Given the description of an element on the screen output the (x, y) to click on. 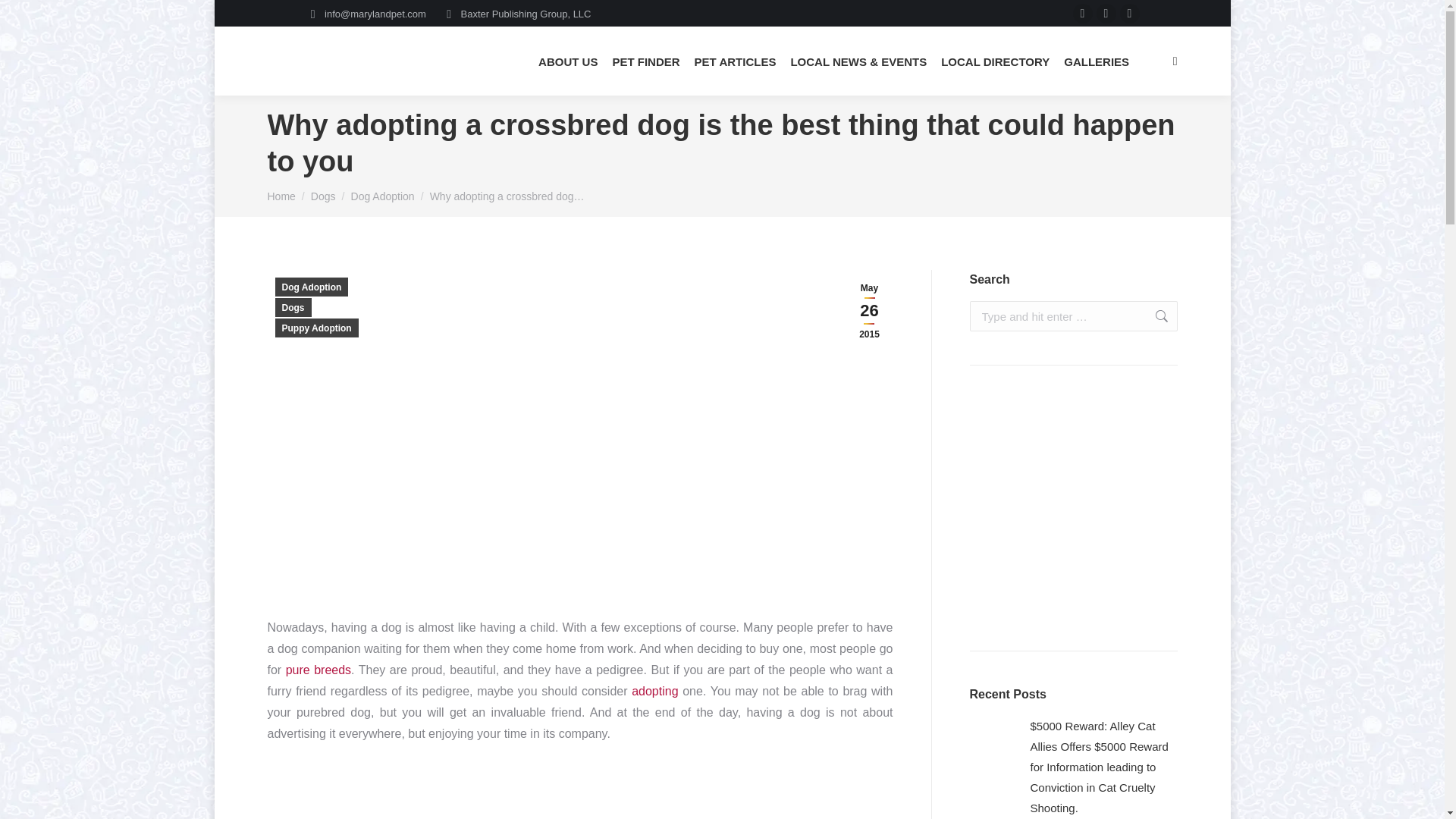
Dogs (323, 196)
Go! (1153, 316)
ABOUT US (567, 61)
PET ARTICLES (734, 61)
Dog Adoption (382, 196)
PET FINDER (645, 61)
Pinterest page opens in new window (1129, 13)
Facebook page opens in new window (1083, 13)
Go! (1153, 316)
X page opens in new window (1106, 13)
Facebook page opens in new window (1083, 13)
Home (280, 196)
Pinterest page opens in new window (1129, 13)
X page opens in new window (1106, 13)
